Given the description of an element on the screen output the (x, y) to click on. 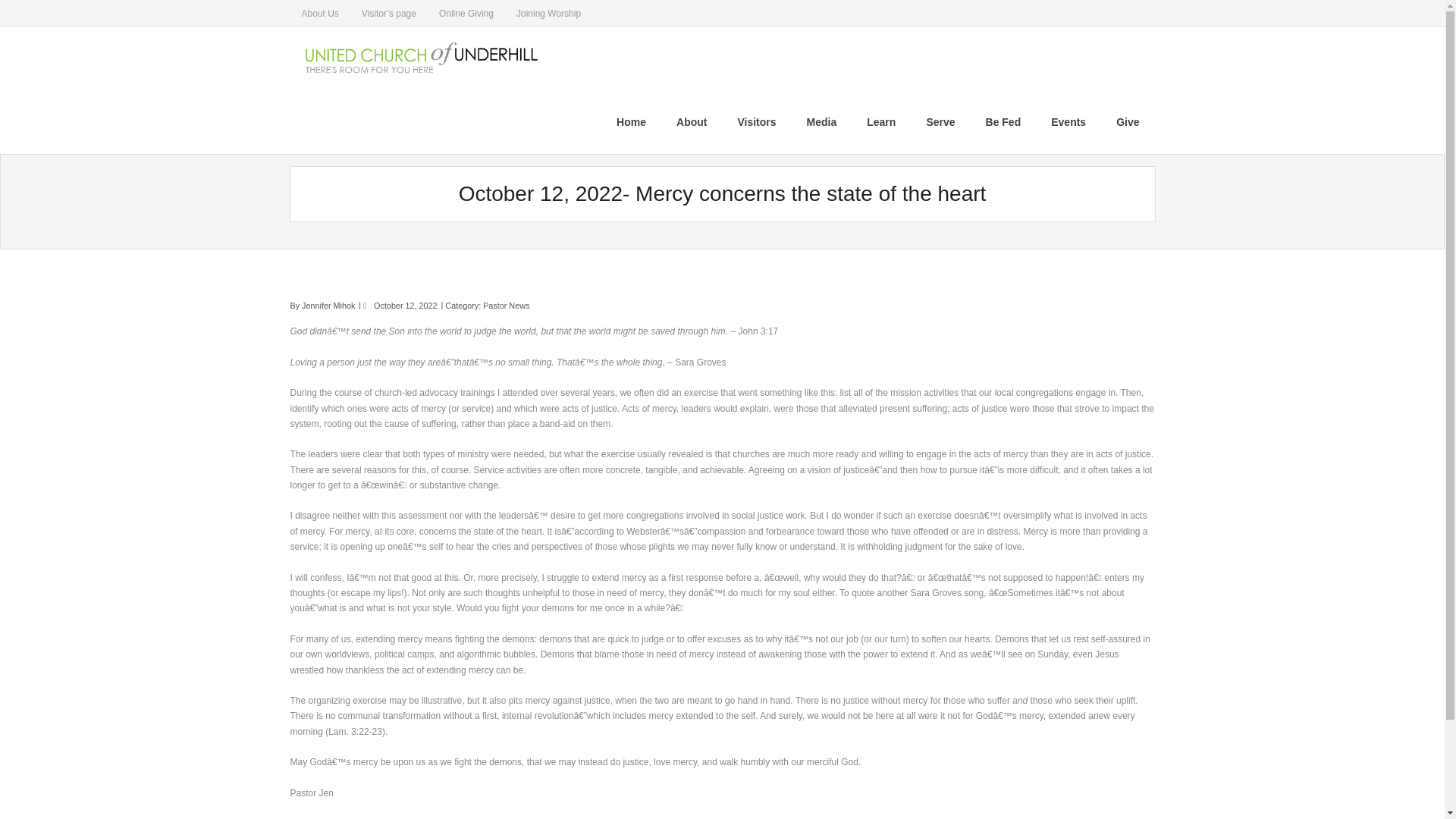
Visitors (756, 121)
Serve (940, 121)
Media (821, 121)
Be Fed (1003, 121)
View all posts by Jennifer Mihok (328, 305)
Learn (881, 121)
Events (1067, 121)
About Us (319, 12)
October 12, 2022- Mercy concerns the state of the heart (405, 305)
Online Giving (466, 12)
Home (631, 121)
About (691, 121)
Joining Worship (548, 12)
